Given the description of an element on the screen output the (x, y) to click on. 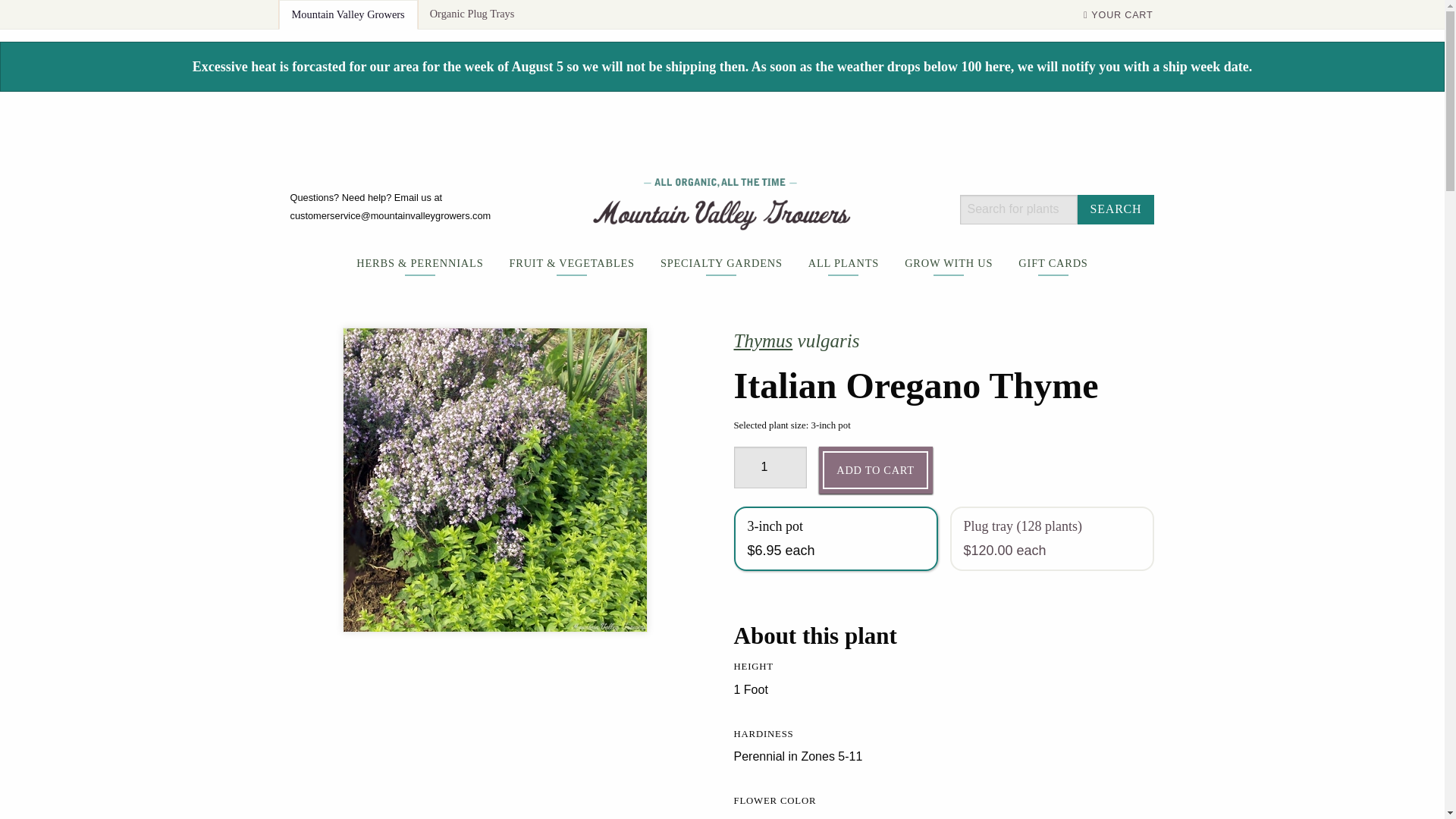
ALL PLANTS (842, 269)
SEARCH (1115, 208)
SPECIALTY GARDENS (720, 269)
YOUR CART (1118, 13)
1 (769, 467)
Organic Plug Trays (472, 13)
Mountain Valley Growers (347, 14)
